Given the description of an element on the screen output the (x, y) to click on. 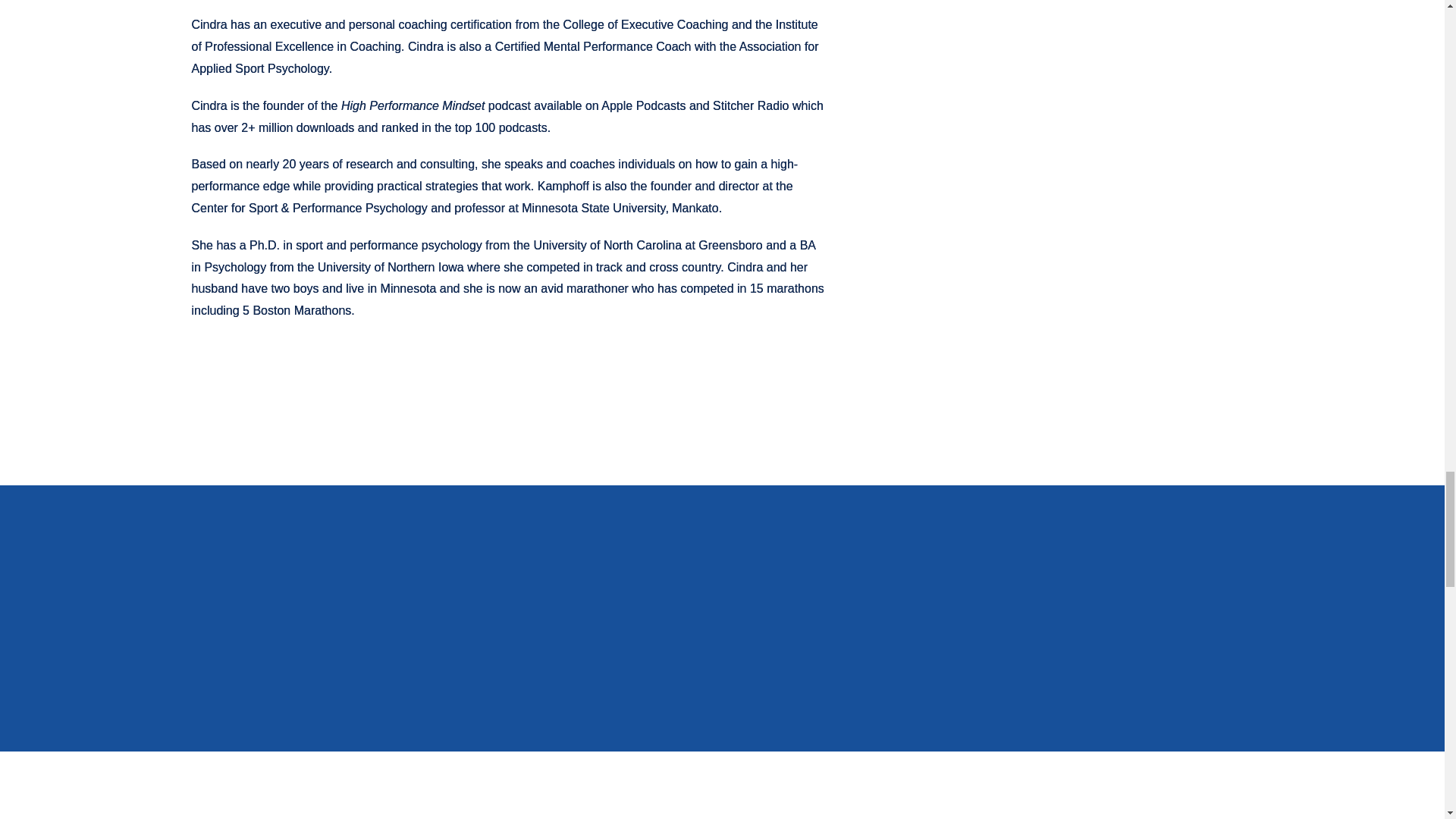
credibility2 (509, 382)
